Given the description of an element on the screen output the (x, y) to click on. 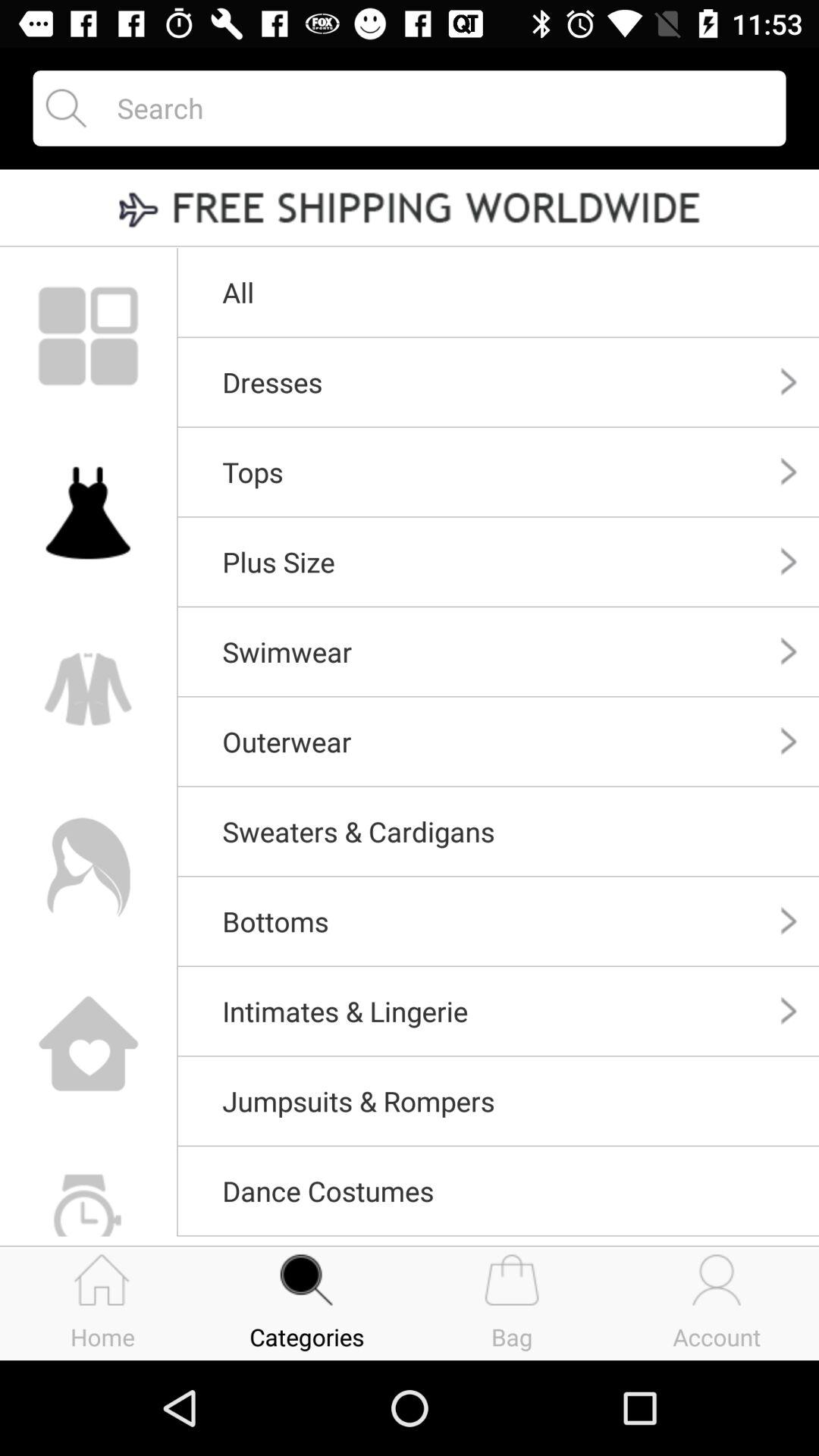
search website (437, 108)
